Given the description of an element on the screen output the (x, y) to click on. 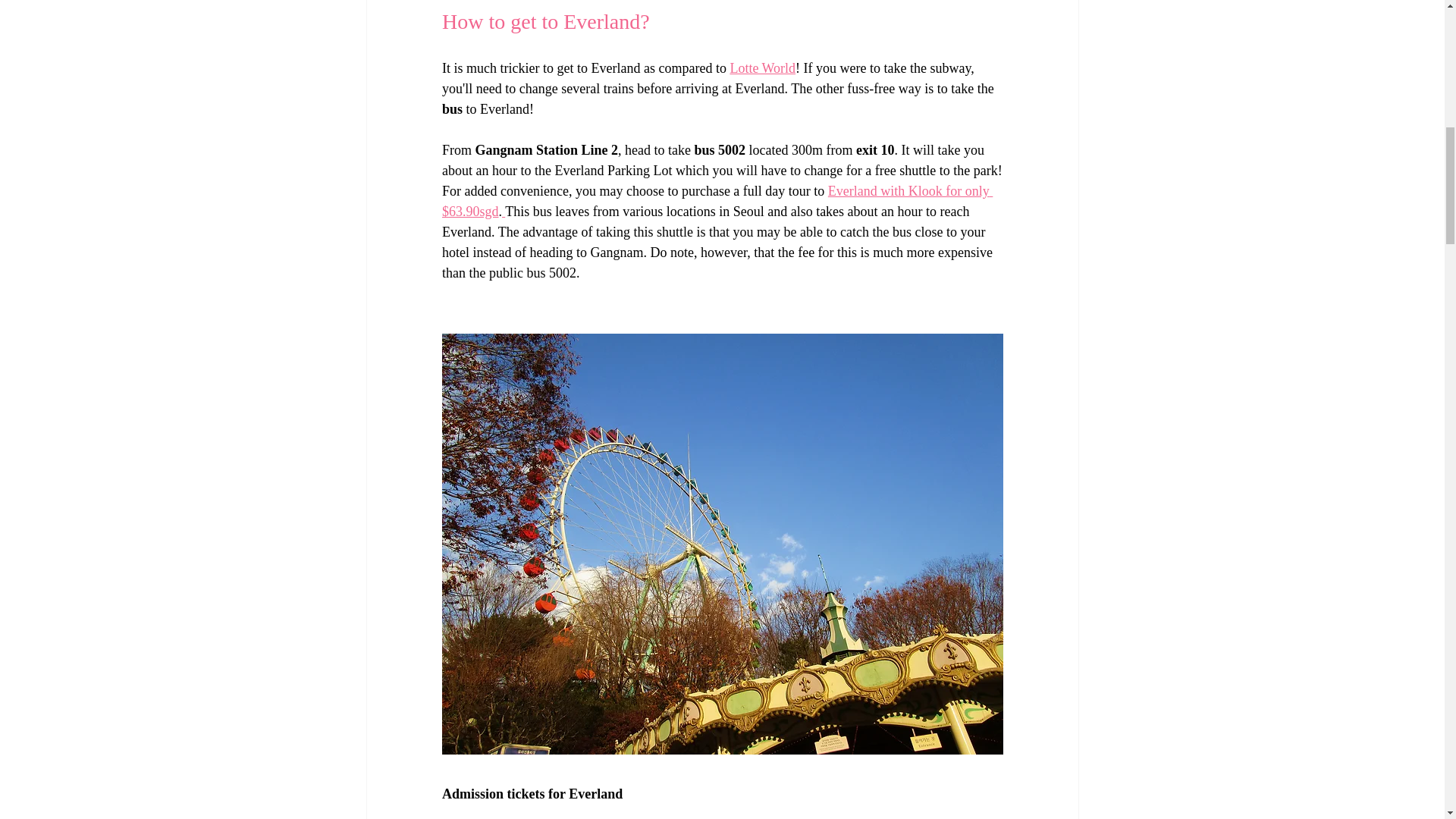
Lotte World (761, 68)
